Given the description of an element on the screen output the (x, y) to click on. 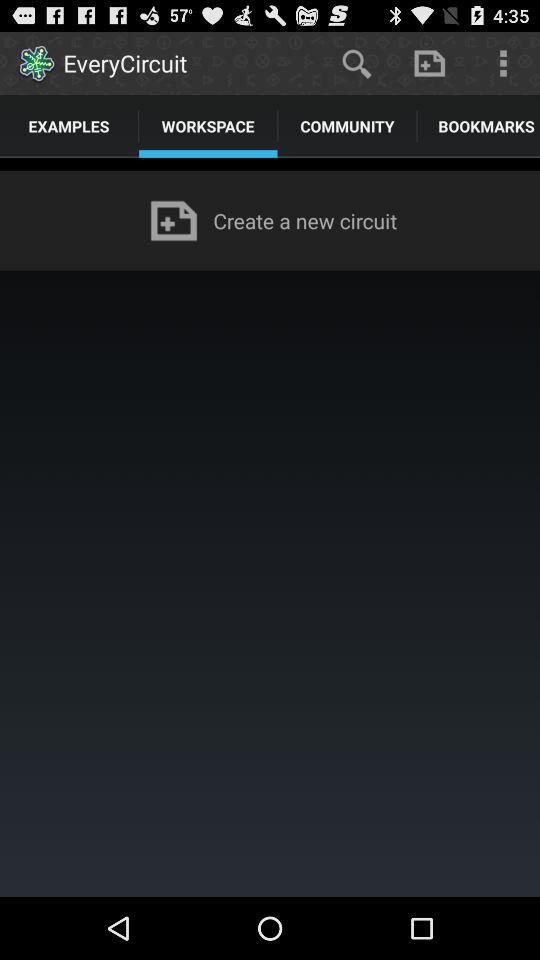
select icon above bookmarks item (503, 62)
